Given the description of an element on the screen output the (x, y) to click on. 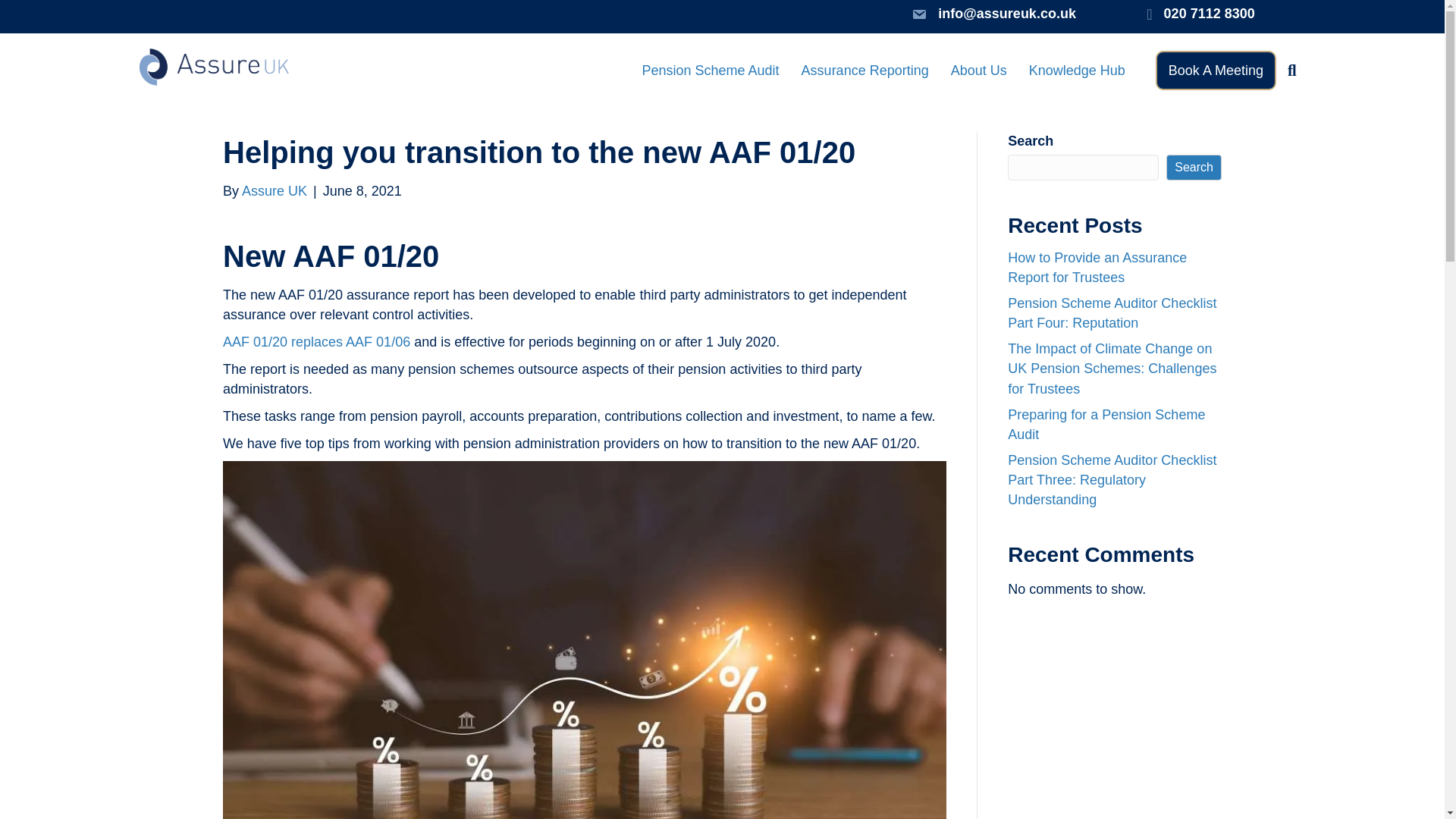
About Us (978, 70)
Knowledge Hub (1076, 70)
Assurance Reporting (864, 70)
Search (1193, 167)
Book A Meeting (1216, 70)
Search (1294, 70)
Assure UK Logo (214, 66)
Assure UK (274, 191)
Pension Scheme Audit (709, 70)
